Given the description of an element on the screen output the (x, y) to click on. 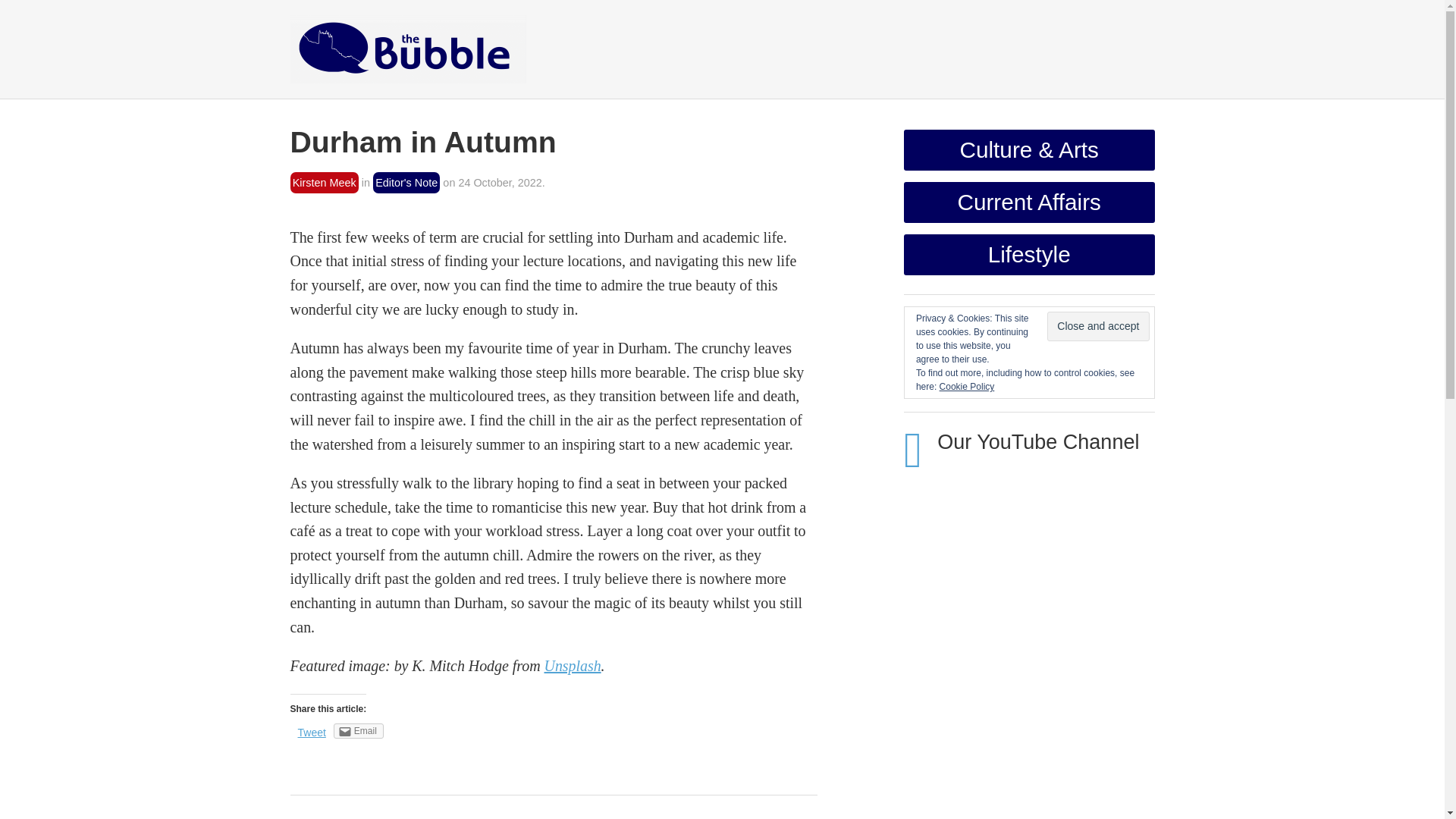
Tweet (310, 732)
Click to email this to a friend (358, 730)
Close and accept (1097, 326)
Editor's Note (405, 182)
Email (358, 730)
Unsplash (572, 665)
Close and accept (1097, 326)
Kirsten Meek (323, 182)
